Given the description of an element on the screen output the (x, y) to click on. 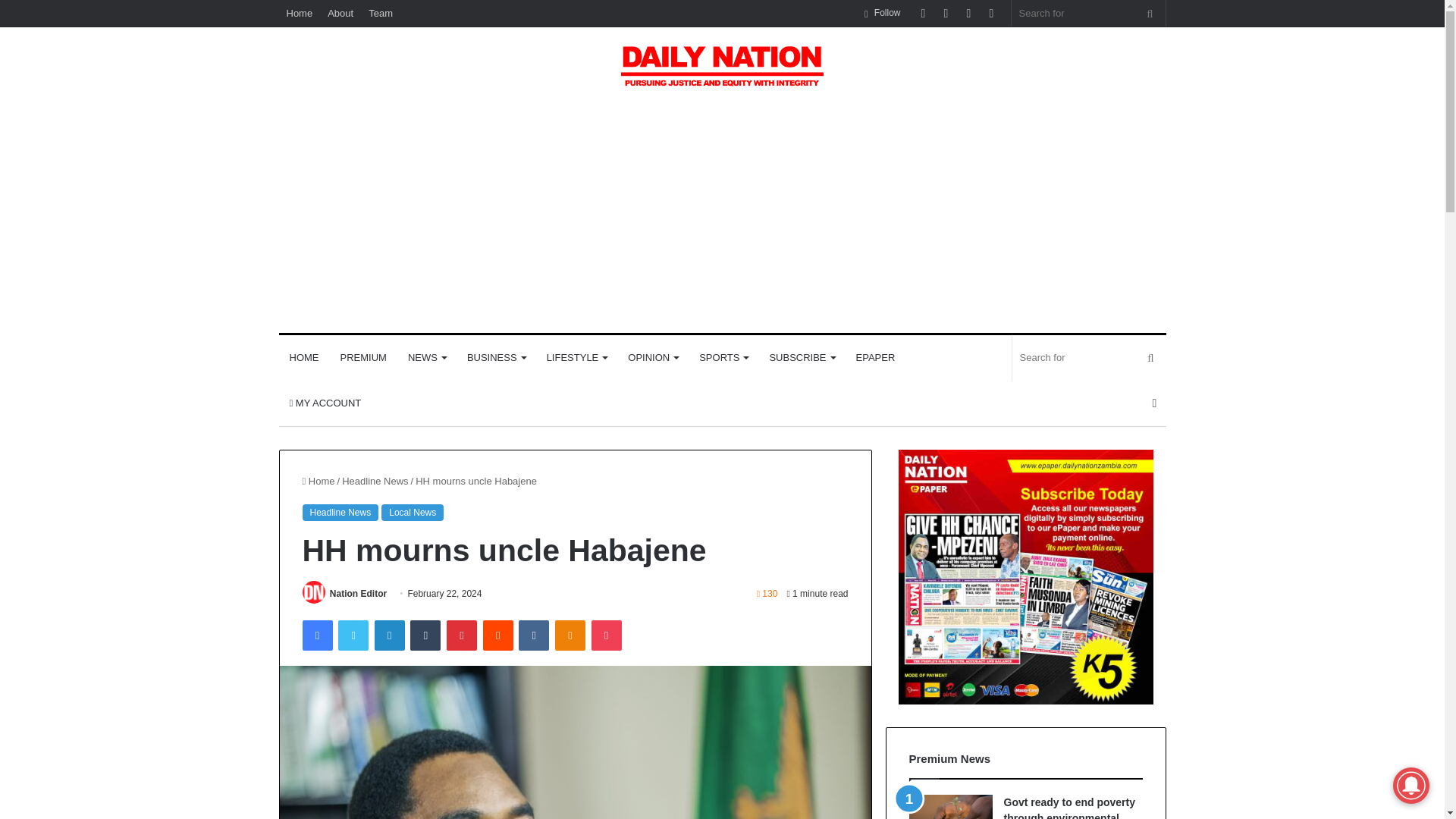
Reddit (498, 634)
Search for (1088, 357)
Sidebar (991, 13)
View your shopping cart (945, 13)
View your shopping cart (1154, 402)
Tumblr (425, 634)
Follow (882, 13)
VKontakte (533, 634)
Twitter (352, 634)
About (340, 13)
LIFESTYLE (576, 357)
Random Article (967, 13)
Daily Nation (722, 66)
Log In (922, 13)
BUSINESS (496, 357)
